Given the description of an element on the screen output the (x, y) to click on. 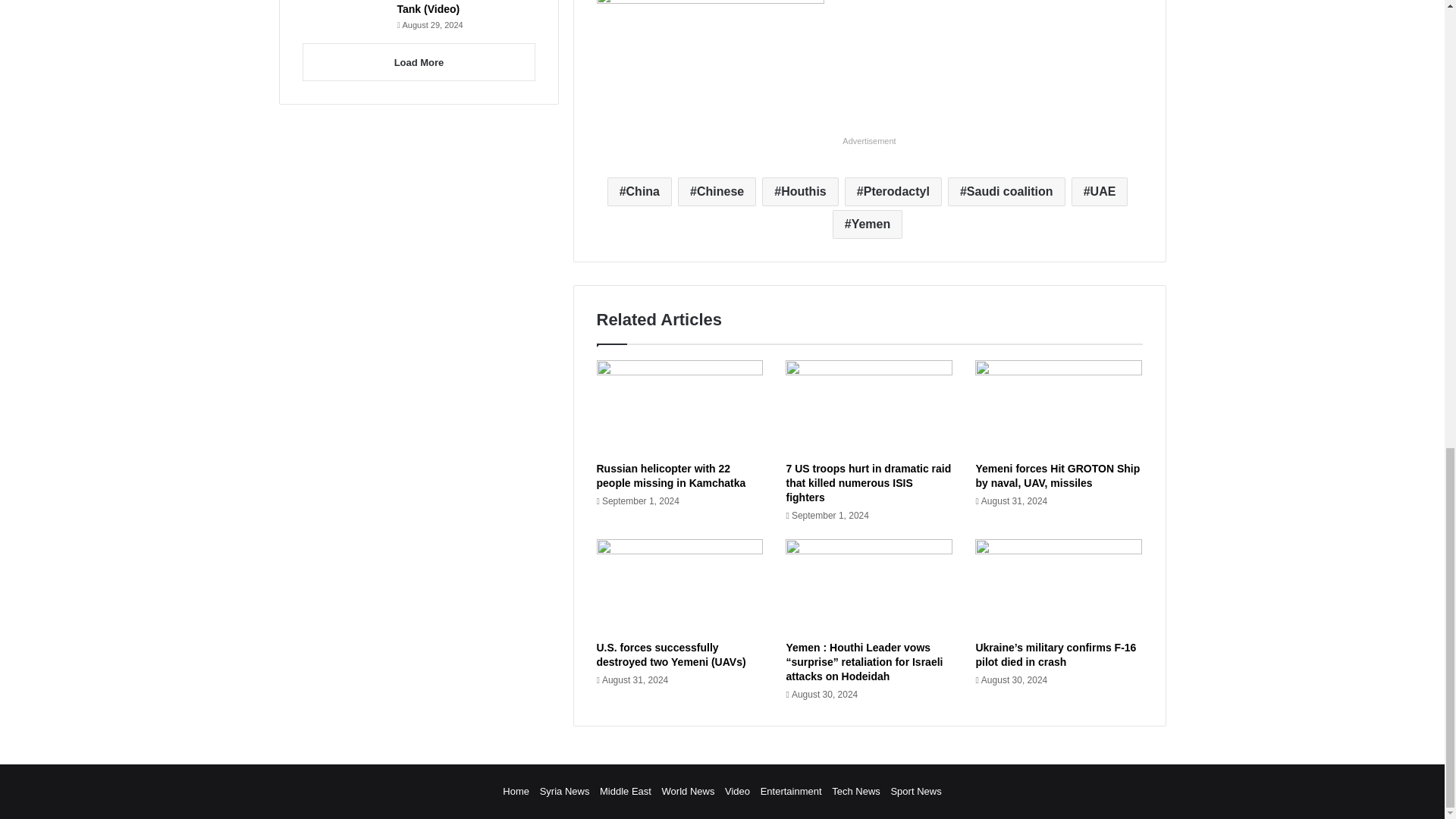
Russian helicopter with 22 people missing in Kamchatka (670, 475)
UAE (1099, 191)
Saudi coalition (1006, 191)
Yemen (867, 224)
Yemeni forces Hit GROTON Ship by naval, UAV, missiles (1057, 475)
China (639, 191)
Houthis (799, 191)
Chinese (716, 191)
Pterodactyl (893, 191)
